Given the description of an element on the screen output the (x, y) to click on. 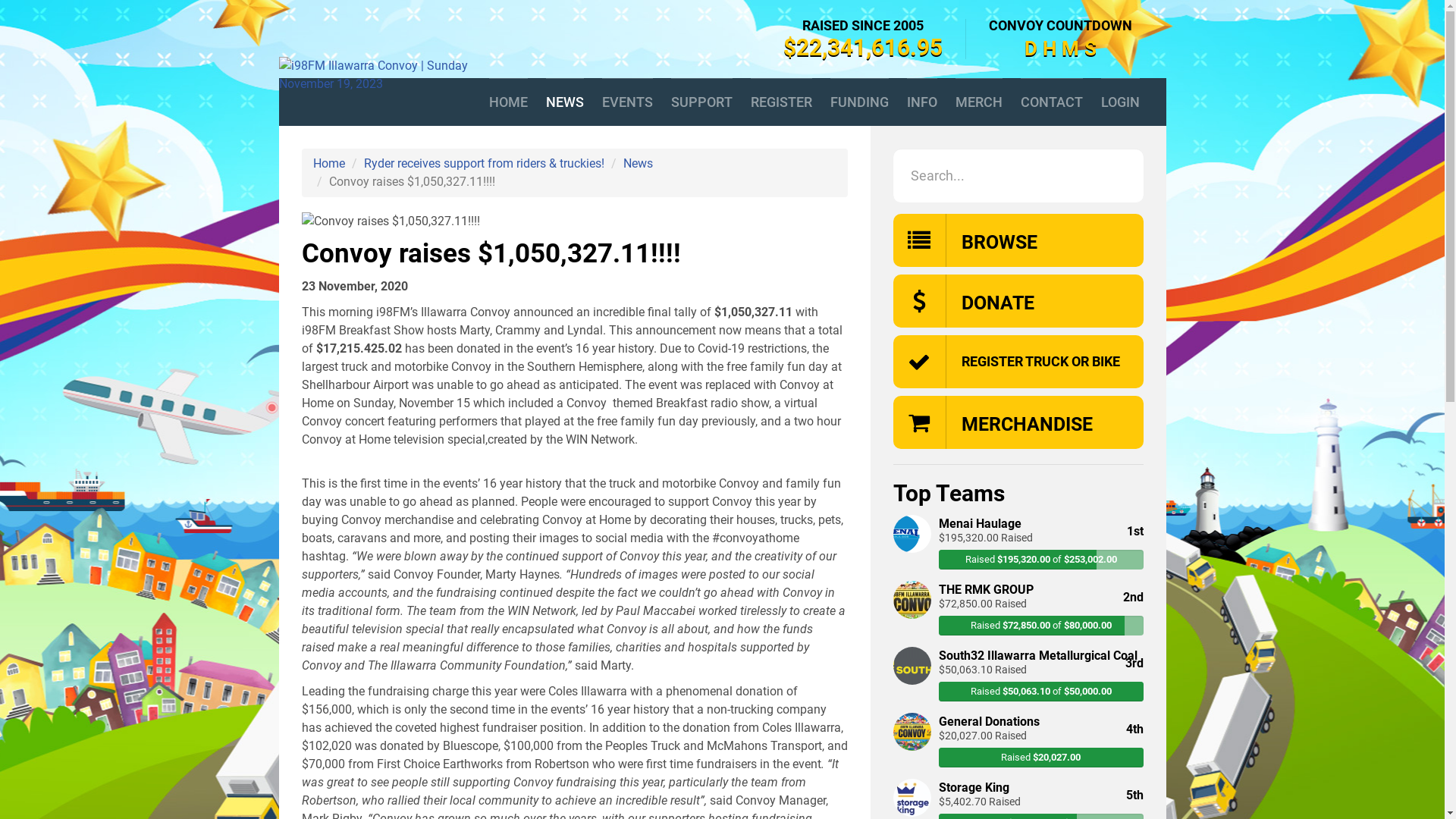
EVENTS Element type: text (627, 101)
MERCHANDISE Element type: text (1018, 421)
NEWS Element type: text (564, 101)
BROWSE Element type: text (1018, 239)
Ryder receives support from riders & truckies! Element type: text (484, 163)
REGISTER Element type: text (781, 101)
HOME Element type: text (507, 101)
DONATE Element type: text (1018, 300)
FUNDING Element type: text (858, 101)
News Element type: text (637, 163)
General Donations Element type: text (1018, 720)
INFO Element type: text (921, 101)
LOGIN Element type: text (1120, 101)
Home Element type: text (328, 163)
CONTACT Element type: text (1051, 101)
THE RMK GROUP Element type: text (1018, 588)
MERCH Element type: text (978, 101)
Storage King Element type: text (1018, 785)
SUPPORT Element type: text (700, 101)
South32 Illawarra Metallurgical Coal Element type: text (1018, 654)
Menai Haulage Element type: text (1018, 522)
REGISTER TRUCK OR BIKE Element type: text (1018, 361)
